Given the description of an element on the screen output the (x, y) to click on. 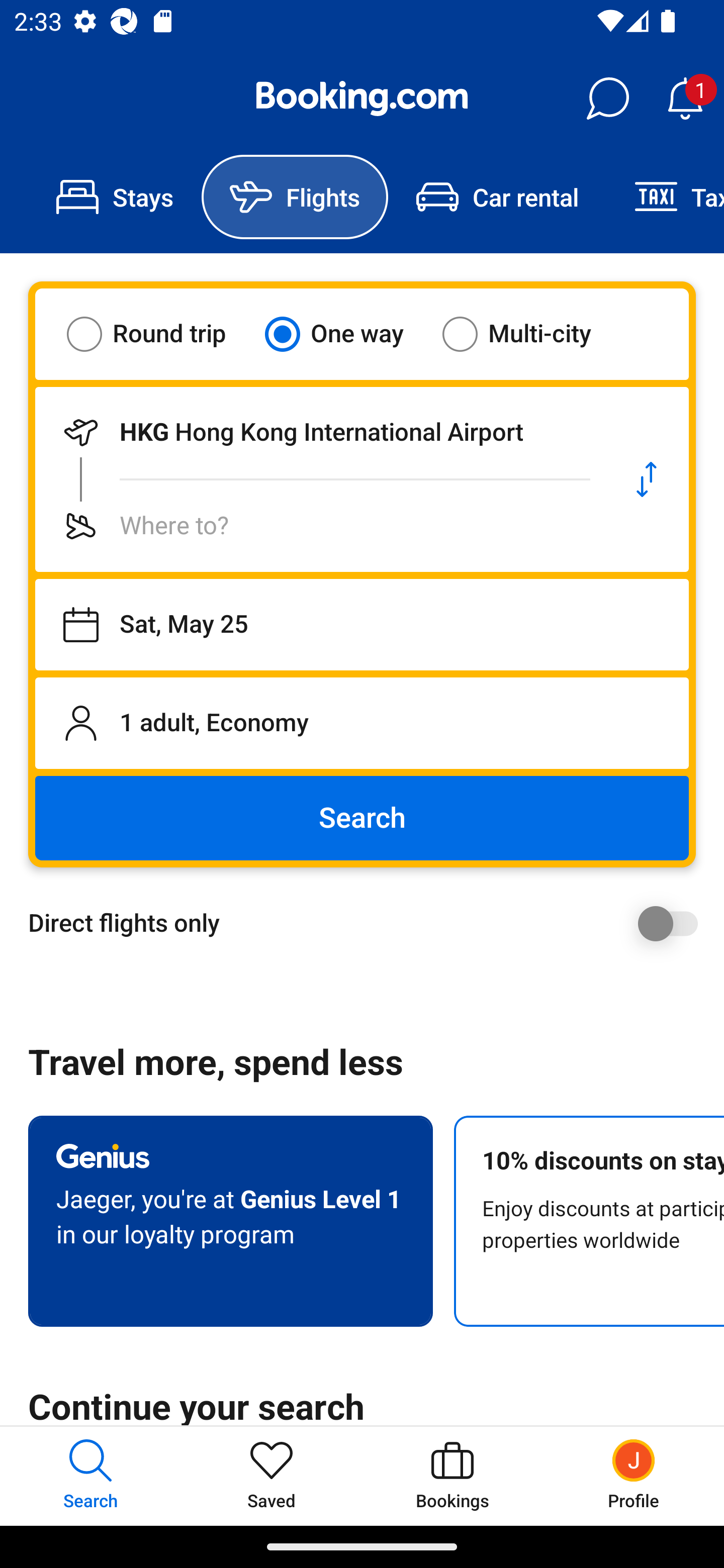
Messages (607, 98)
Notifications (685, 98)
Stays (114, 197)
Flights (294, 197)
Car rental (497, 197)
Taxi (665, 197)
Round trip (158, 333)
Multi-city (528, 333)
Departing from HKG Hong Kong International Airport (319, 432)
Swap departure location and destination (646, 479)
Flying to  (319, 525)
Departing on Sat, May 25 (361, 624)
1 adult, Economy (361, 722)
Search (361, 818)
Direct flights only (369, 923)
Saved (271, 1475)
Bookings (452, 1475)
Profile (633, 1475)
